Given the description of an element on the screen output the (x, y) to click on. 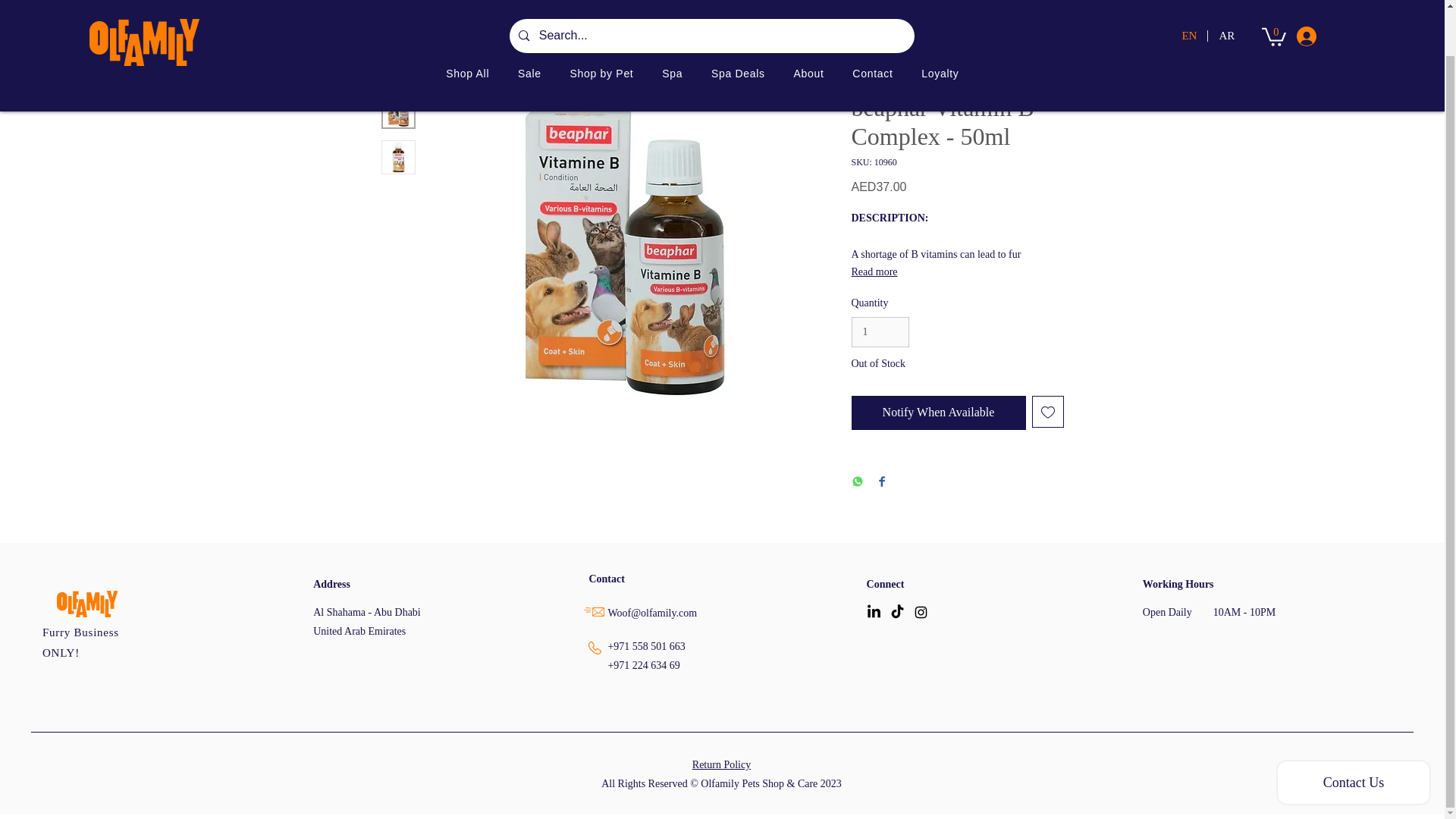
About (809, 24)
Read more (956, 271)
Shop All (466, 24)
Return Policy (722, 764)
1 (879, 332)
Notify When Available (937, 412)
Spa Deals (738, 24)
Olfamily Pets Logo (143, 8)
Loyalty (939, 24)
Sale (529, 24)
Spa (672, 24)
Contact (872, 24)
Log In (1312, 1)
